Given the description of an element on the screen output the (x, y) to click on. 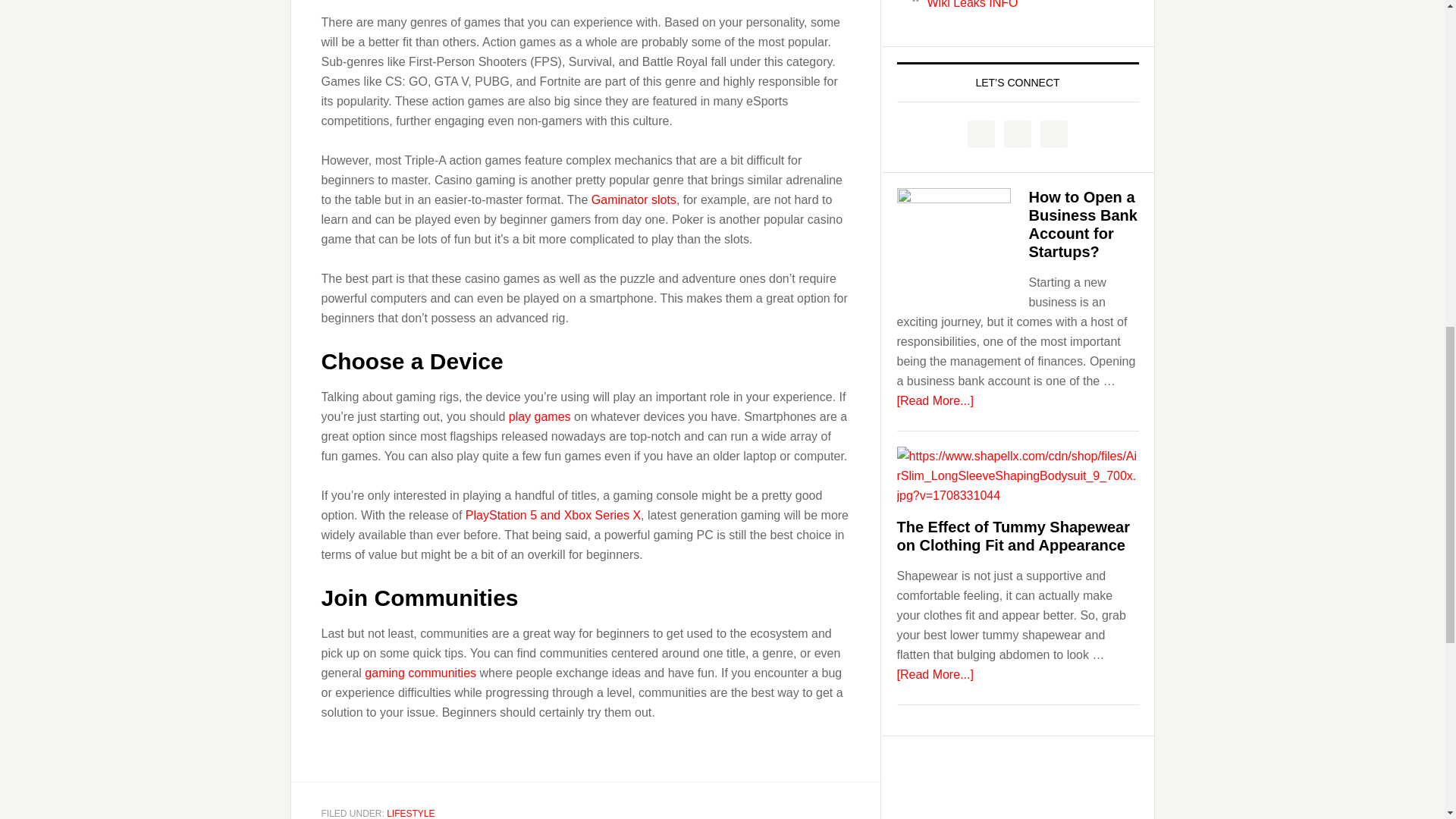
The Effect of Tummy Shapewear on Clothing Fit and Appearance (1012, 535)
PlayStation 5 and Xbox Series X (552, 514)
How to Open a Business Bank Account for Startups? (1082, 224)
LIFESTYLE (410, 813)
play games (539, 416)
gaming communities (420, 672)
Wiki Leaks INFO (971, 4)
Gaminator slots (634, 199)
